Given the description of an element on the screen output the (x, y) to click on. 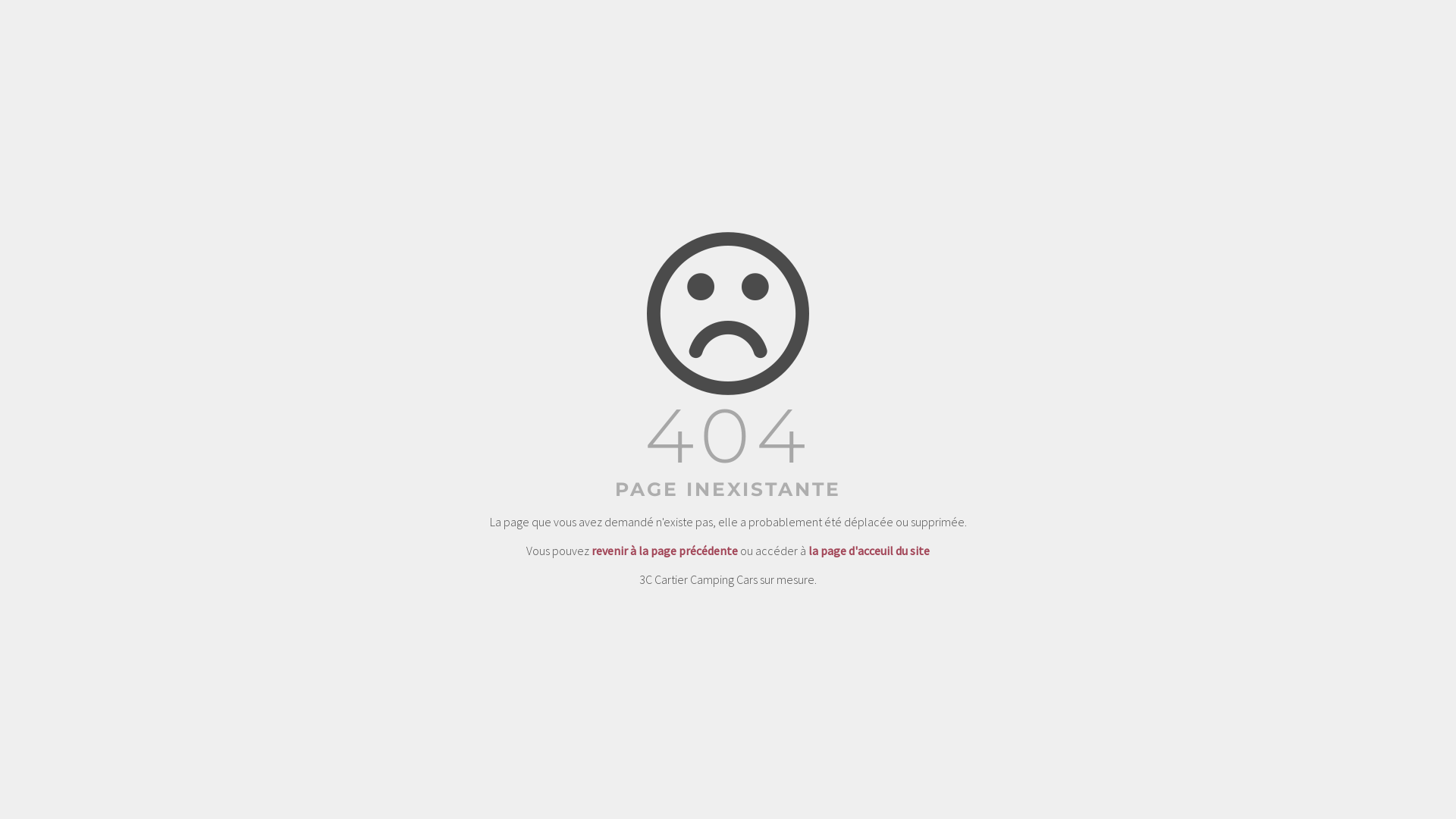
la page d'acceuil du site Element type: text (868, 550)
